Given the description of an element on the screen output the (x, y) to click on. 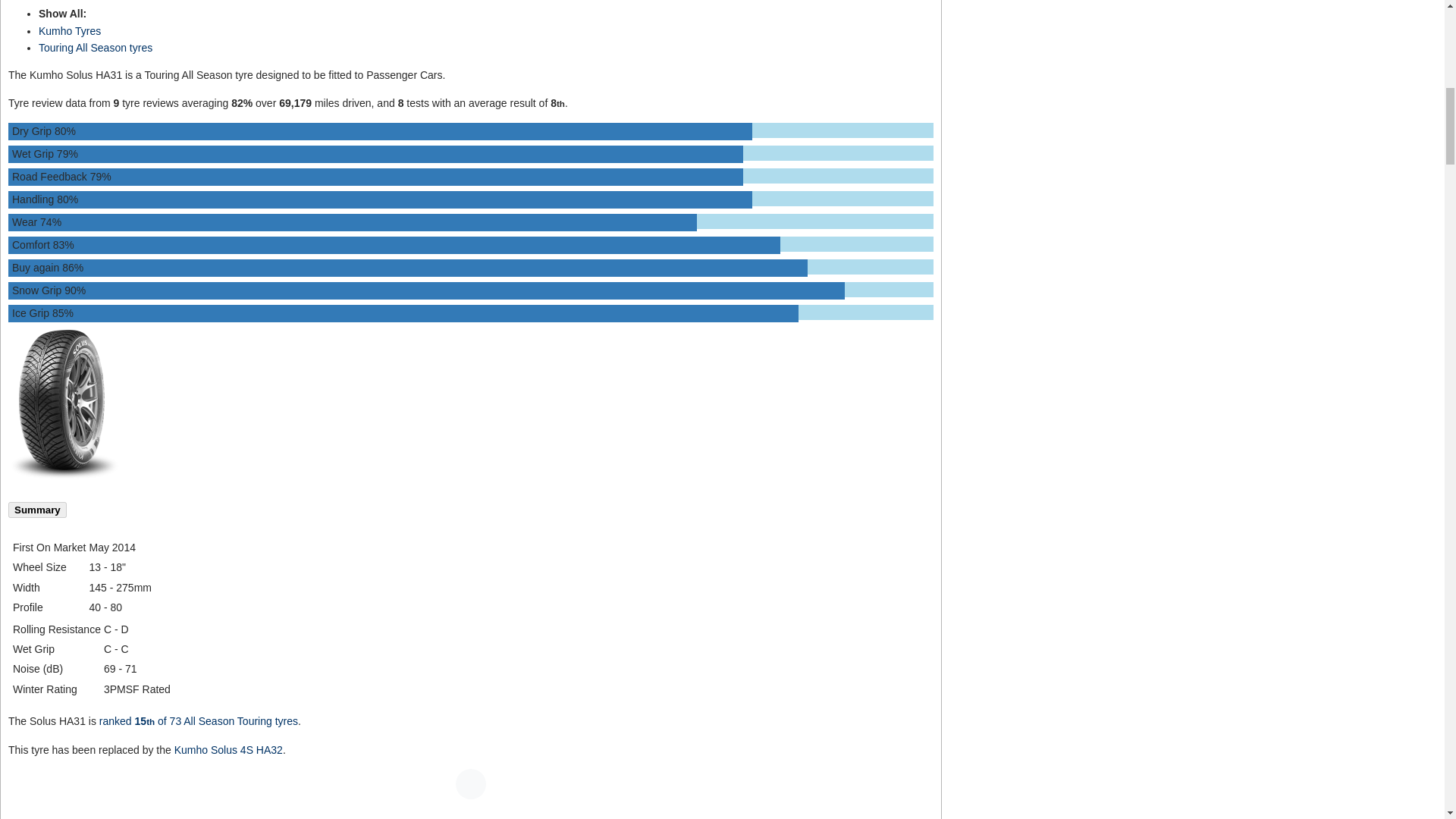
ranked 15th of 73 All Season Touring tyres (198, 720)
Kumho Solus 4S HA32 (228, 748)
Summary (37, 509)
Kumho Tyres (69, 30)
Touring All Season tyres (95, 47)
